Given the description of an element on the screen output the (x, y) to click on. 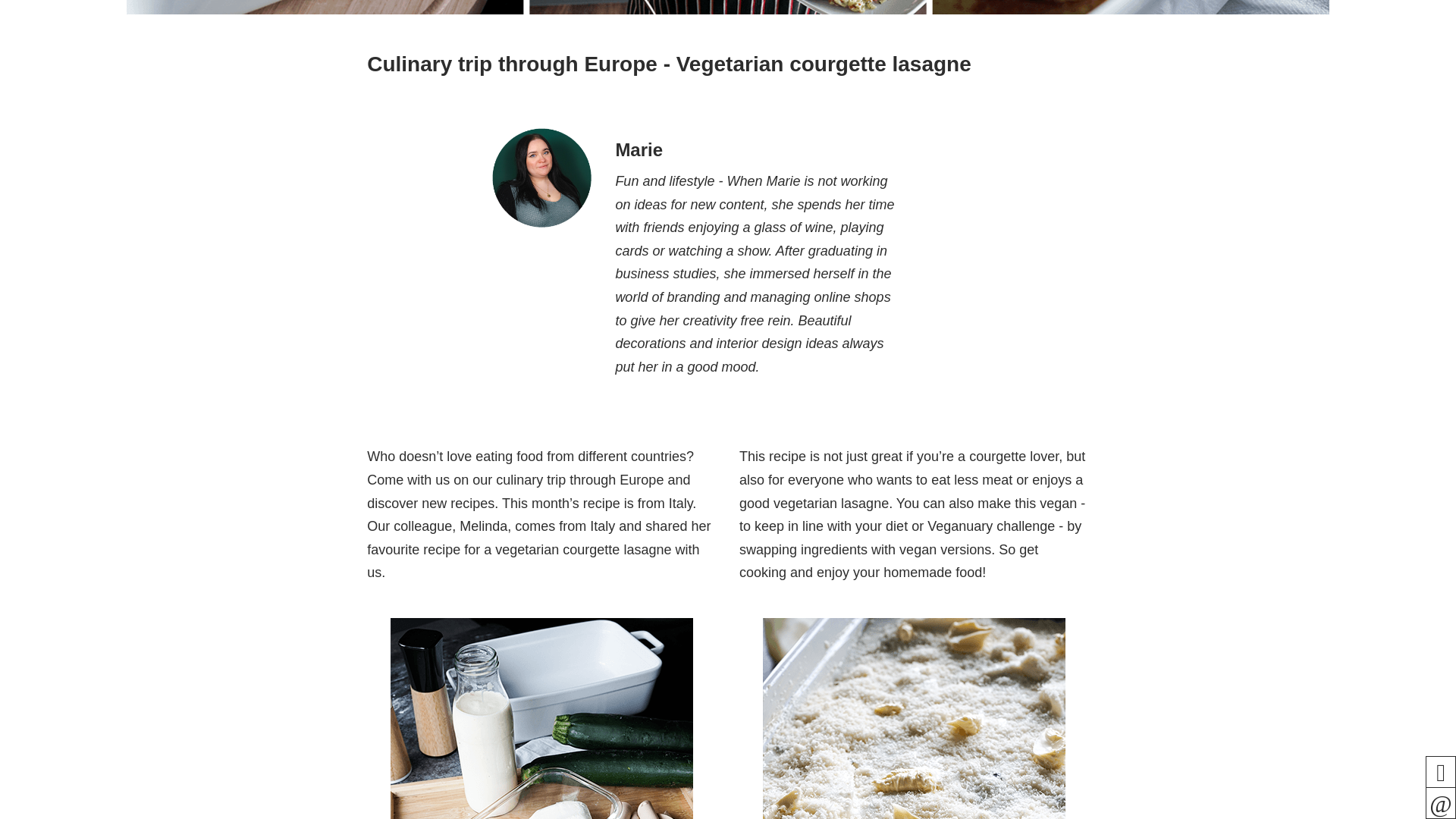
Vegetarian courgette lasagne (727, 6)
